Given the description of an element on the screen output the (x, y) to click on. 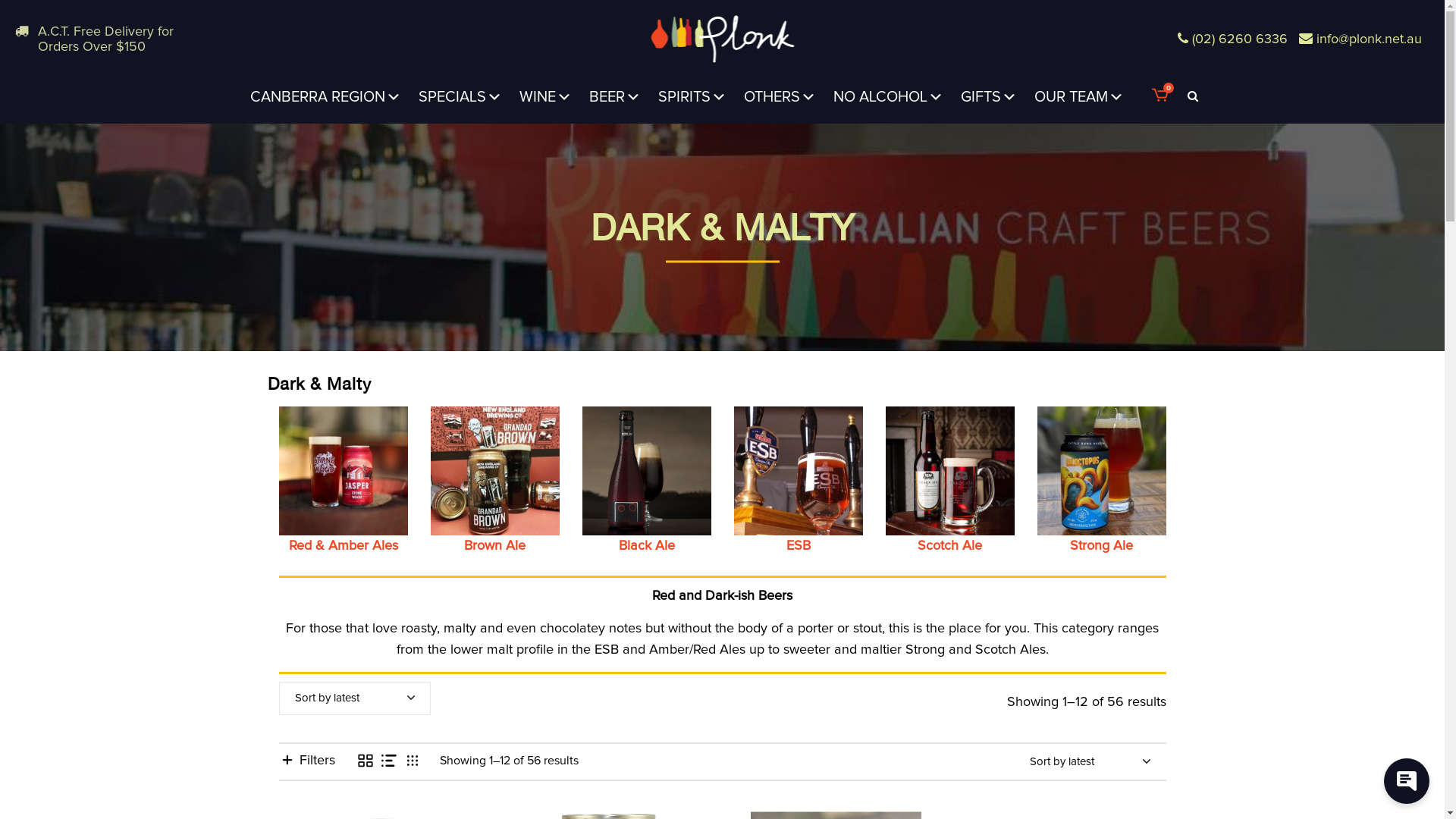
(02) 6260 6336 Element type: text (1239, 38)
info@plonk.net.au Element type: text (1368, 38)
ESB Element type: text (798, 479)
CANBERRA REGION Element type: text (325, 96)
Black Ale Element type: text (646, 479)
Filters Element type: text (307, 759)
Brown Ale Element type: text (494, 479)
Red & Amber Ales Element type: text (343, 479)
0 Element type: text (1159, 97)
Strong Ale Element type: text (1101, 479)
Scotch Ale Element type: text (949, 479)
GIFTS Element type: text (988, 96)
BEER Element type: text (614, 96)
OTHERS Element type: text (779, 96)
WINE Element type: text (545, 96)
SPIRITS Element type: text (692, 96)
OUR TEAM Element type: text (1078, 96)
SPECIALS Element type: text (460, 96)
NO ALCOHOL Element type: text (888, 96)
